Given the description of an element on the screen output the (x, y) to click on. 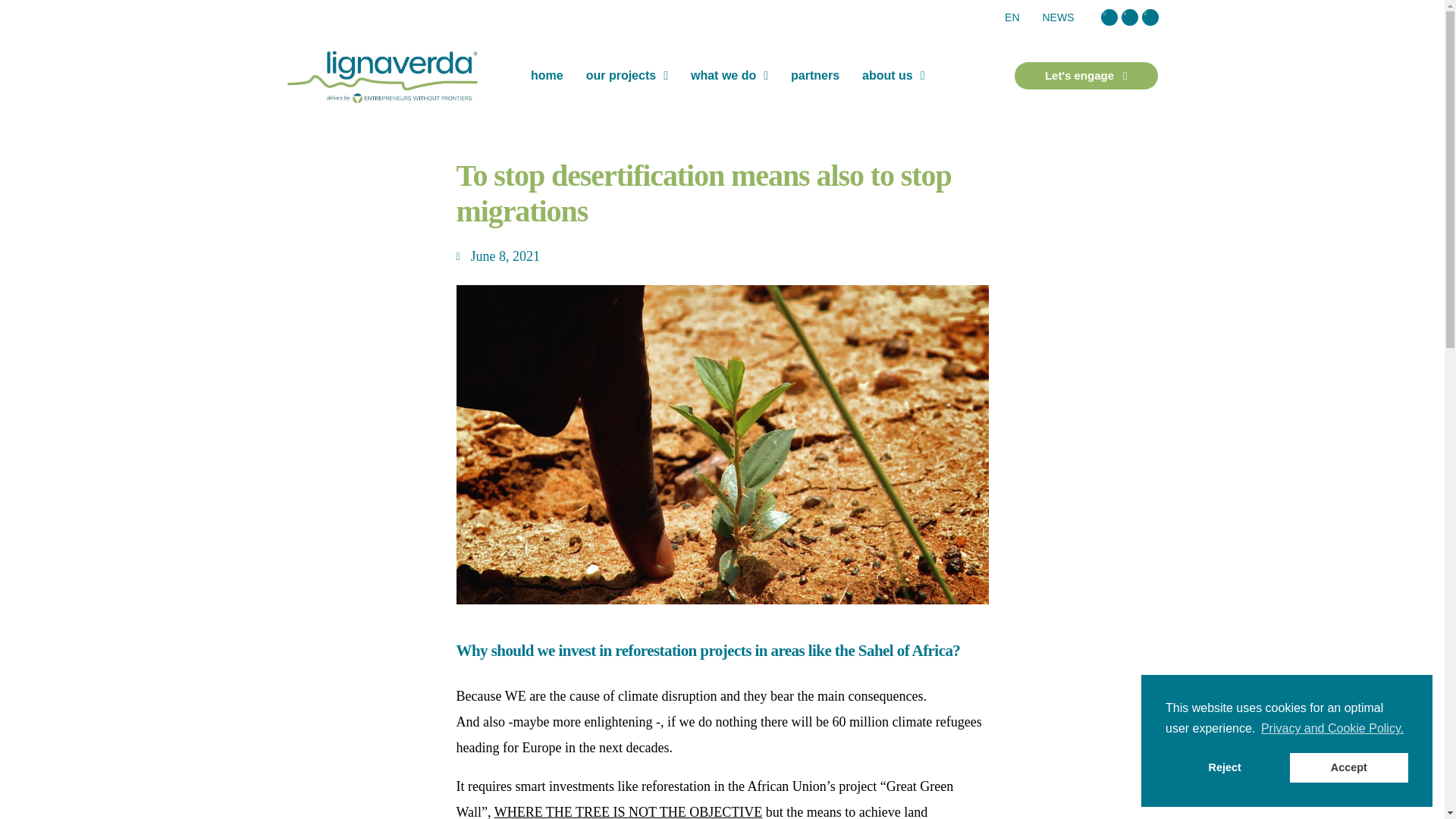
our projects (627, 75)
home (547, 75)
EN (1011, 17)
NEWS (1058, 17)
EN (1011, 17)
what we do (729, 75)
